Given the description of an element on the screen output the (x, y) to click on. 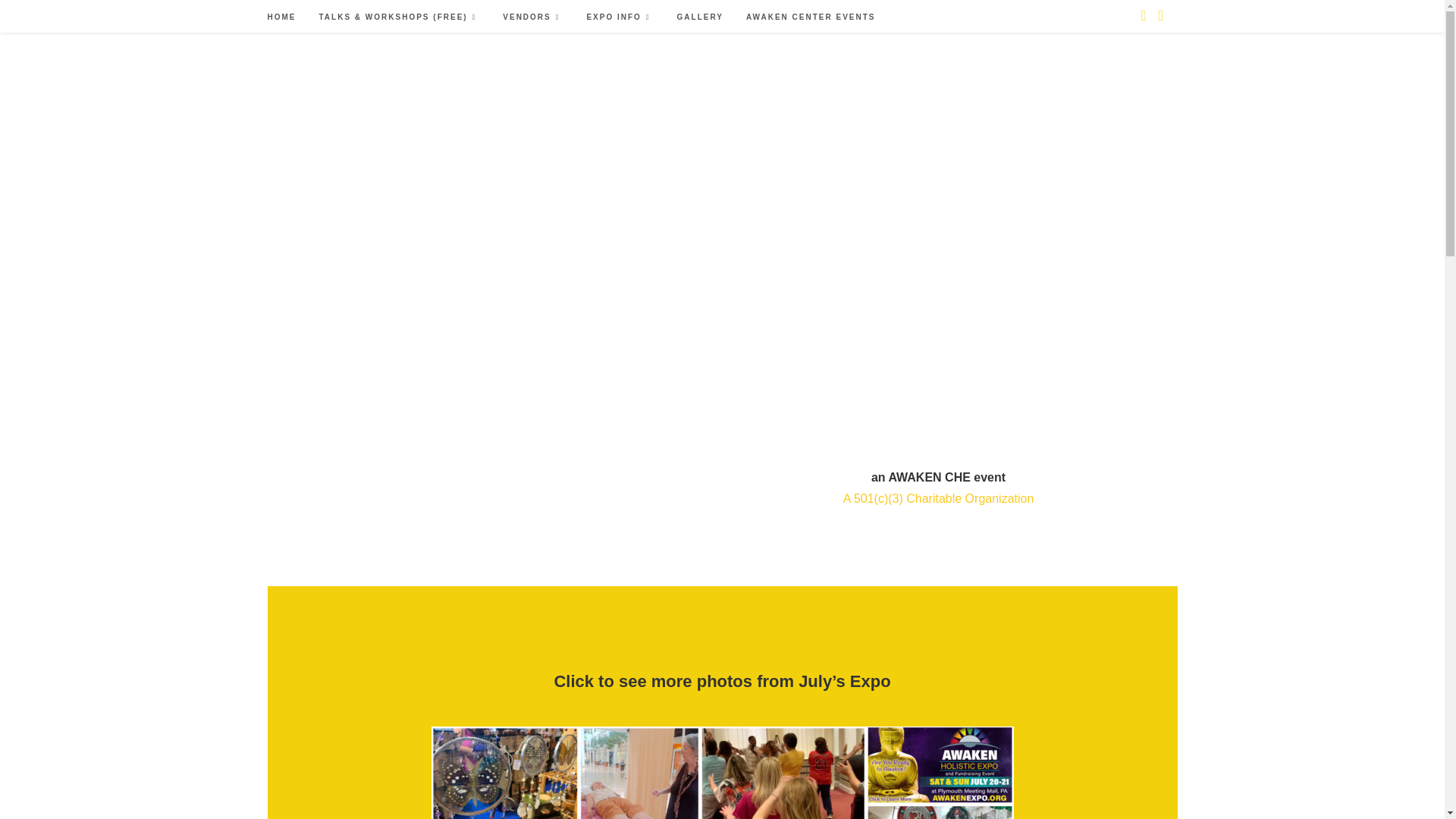
GALLERY (700, 17)
AWAKEN CENTER EVENTS (810, 17)
HOME (281, 17)
VENDORS (533, 17)
EXPO INFO (620, 17)
